Given the description of an element on the screen output the (x, y) to click on. 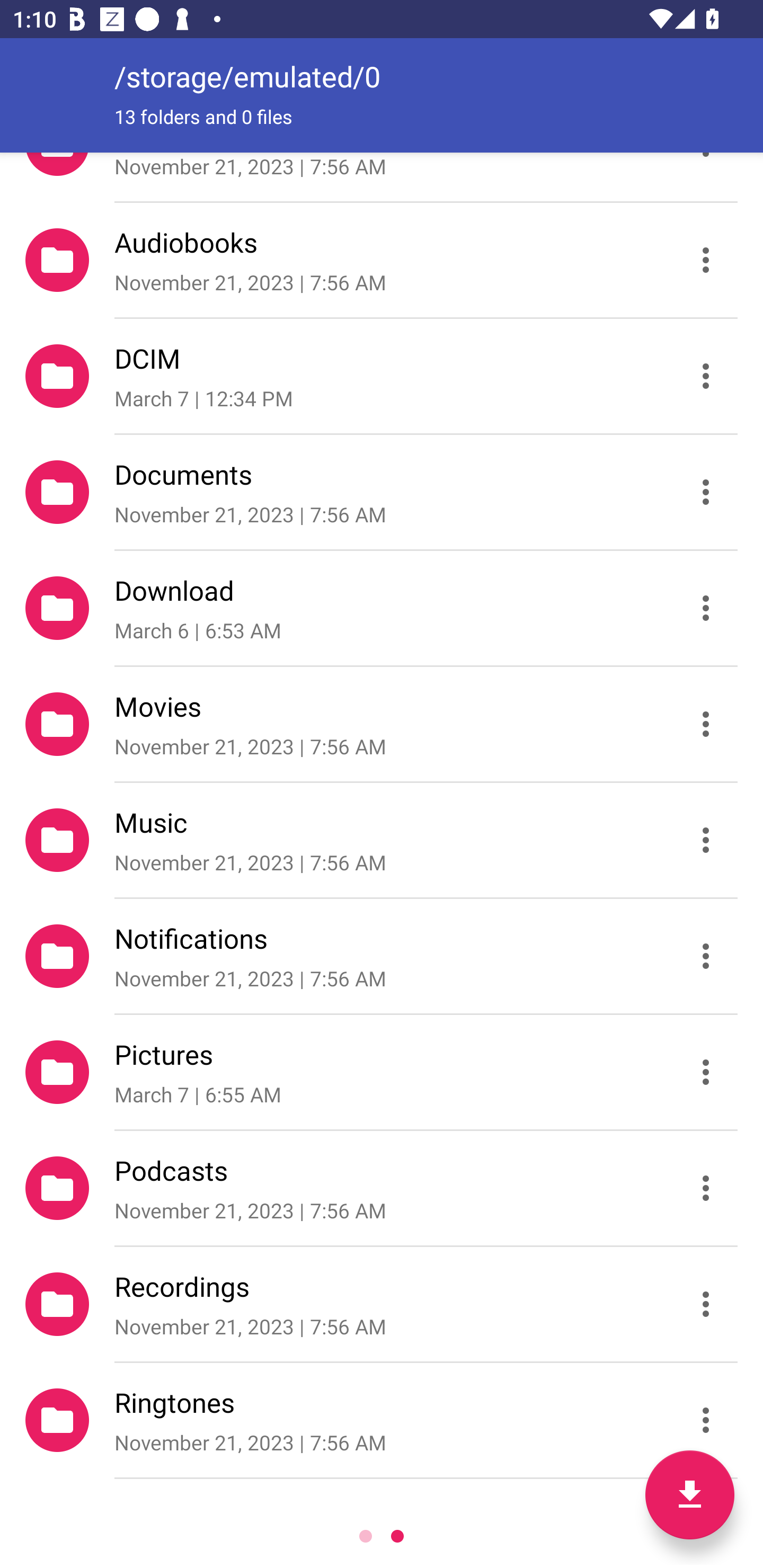
Audiobooks November 21, 2023 | 7:56 AM (381, 259)
DCIM March 7 | 12:34 PM (381, 375)
Documents November 21, 2023 | 7:56 AM (381, 491)
Download March 6 | 6:53 AM (381, 607)
Movies November 21, 2023 | 7:56 AM (381, 723)
Music November 21, 2023 | 7:56 AM (381, 839)
Notifications November 21, 2023 | 7:56 AM (381, 955)
Pictures March 7 | 6:55 AM (381, 1071)
Podcasts November 21, 2023 | 7:56 AM (381, 1187)
Recordings November 21, 2023 | 7:56 AM (381, 1303)
Ringtones November 21, 2023 | 7:56 AM (381, 1419)
